Given the description of an element on the screen output the (x, y) to click on. 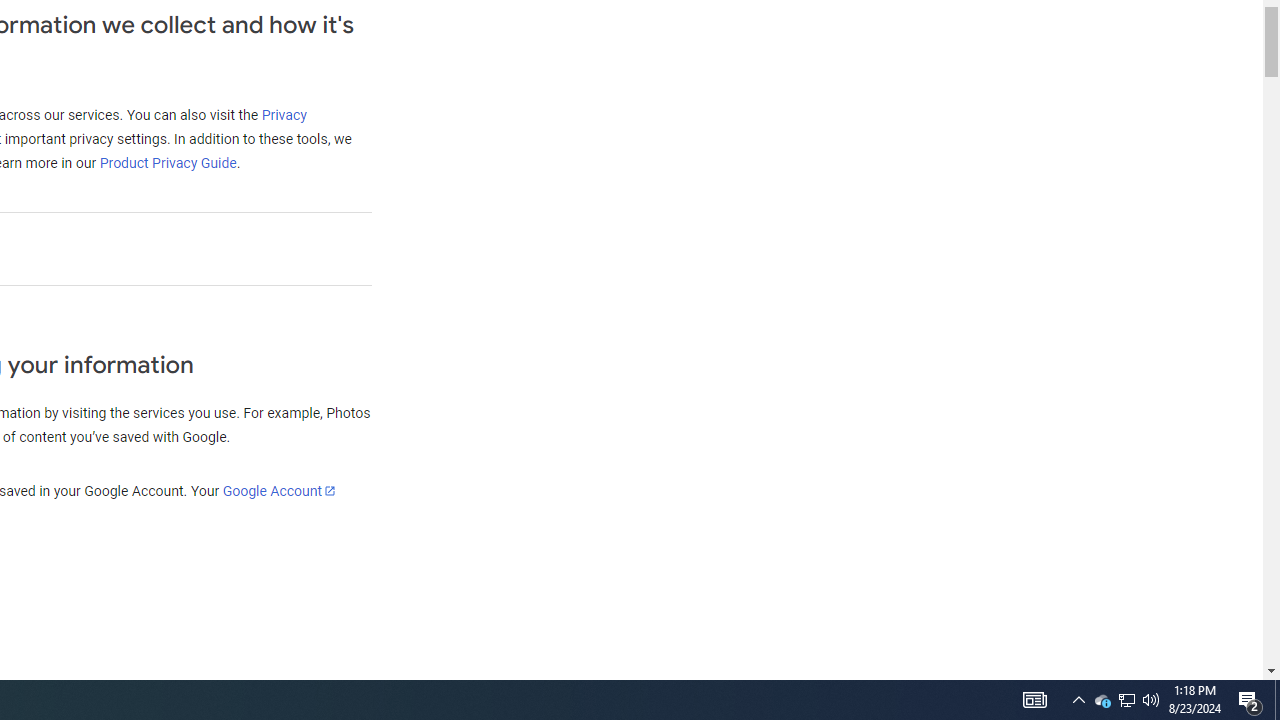
Google Account (278, 490)
Product Privacy Guide (167, 163)
